Given the description of an element on the screen output the (x, y) to click on. 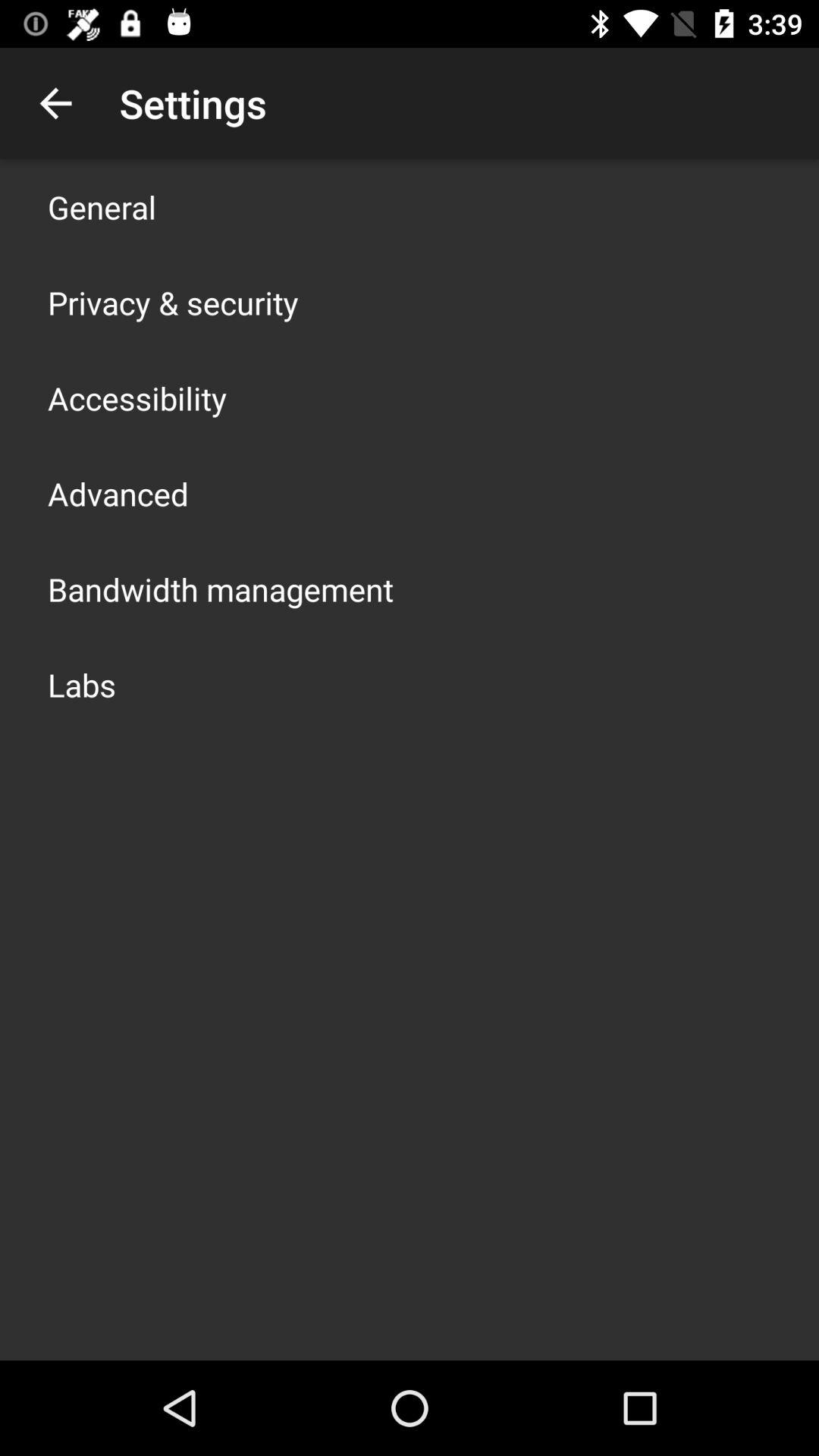
flip until accessibility icon (136, 397)
